Given the description of an element on the screen output the (x, y) to click on. 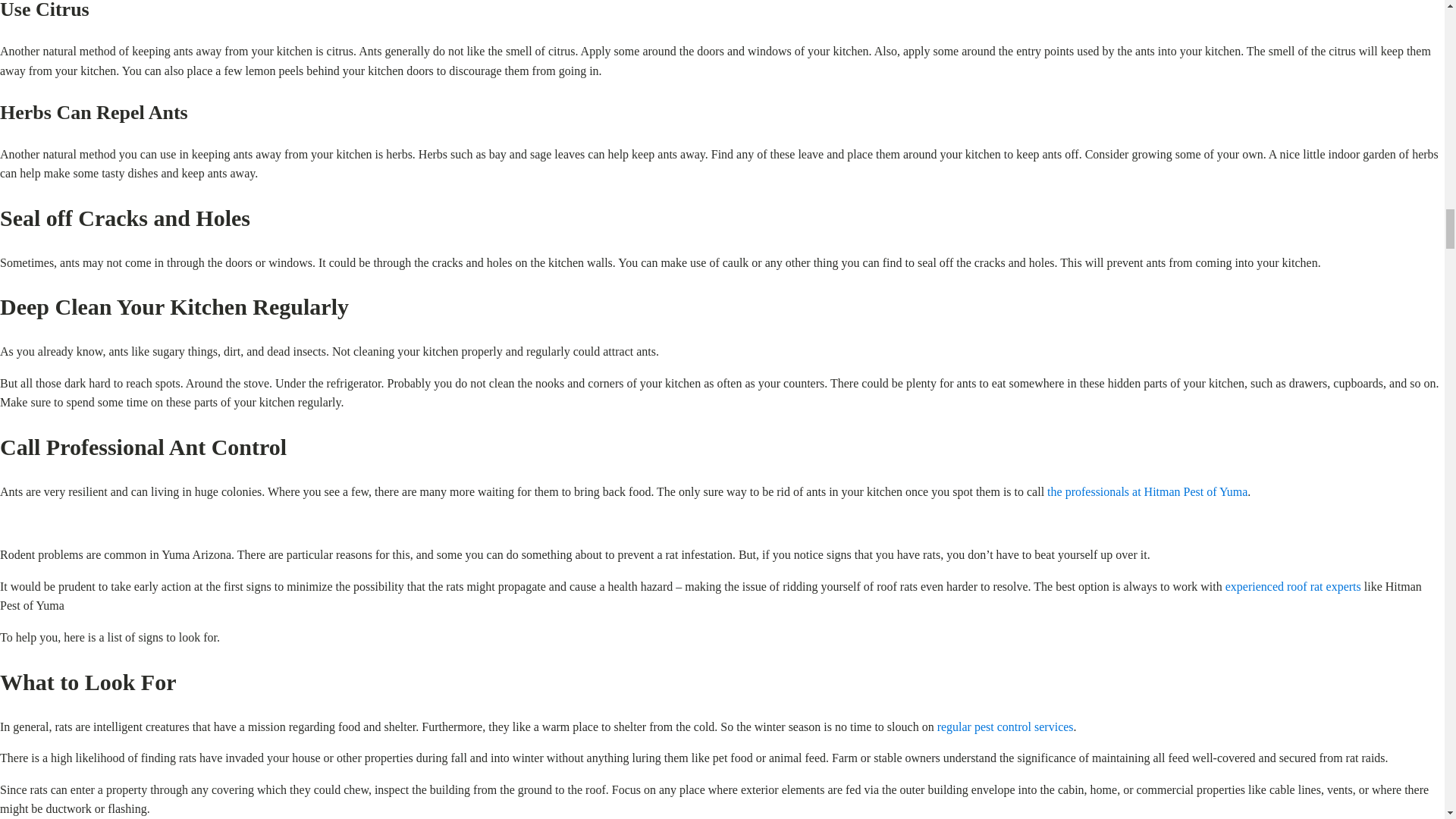
regular pest control services (1005, 726)
experienced roof rat experts (1293, 585)
the professionals at Hitman Pest of Yuma (1146, 491)
